Given the description of an element on the screen output the (x, y) to click on. 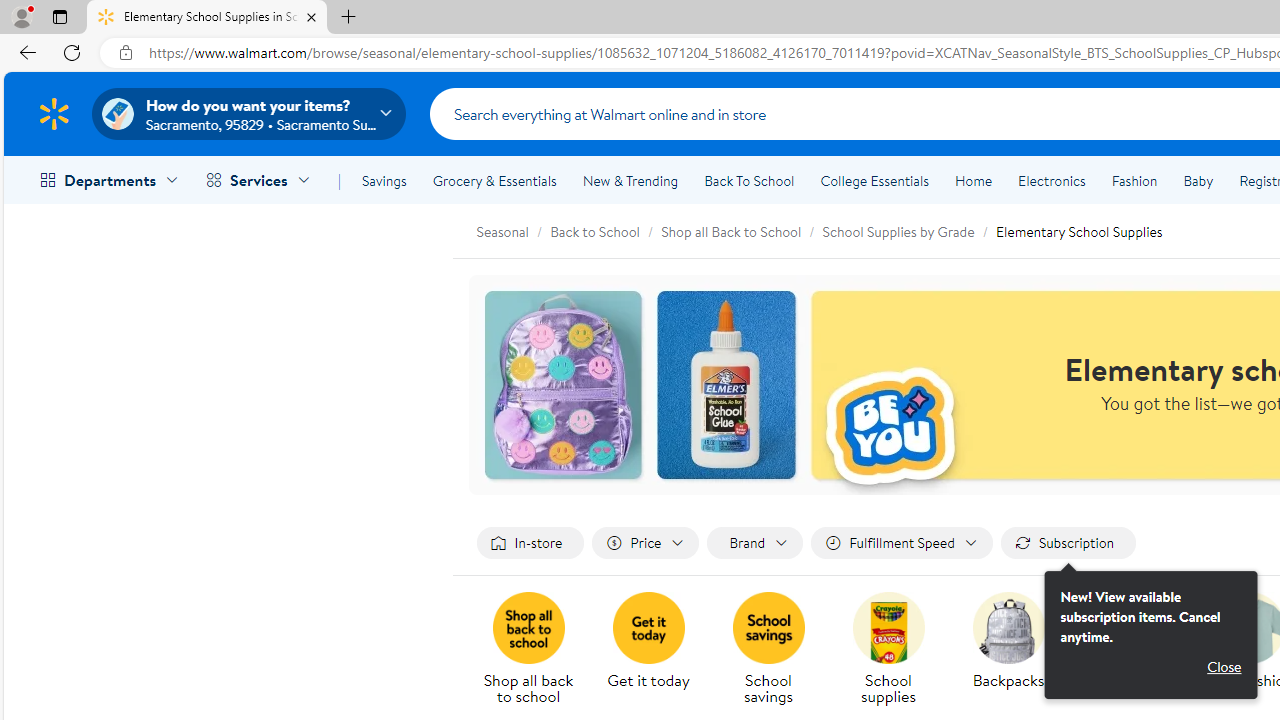
Fashion (1134, 180)
Shop all back to school Shop all back to school (528, 650)
Filter by Price not applied, activate to change (645, 543)
School supplies School supplies (887, 650)
Back to School (595, 231)
Filter by In-store (530, 543)
Shop all back to school (527, 628)
Elementary School Supplies (1078, 231)
Get it today Get it today (648, 641)
A gray metallic backpack is on display. (1007, 628)
Baby (1197, 180)
